Given the description of an element on the screen output the (x, y) to click on. 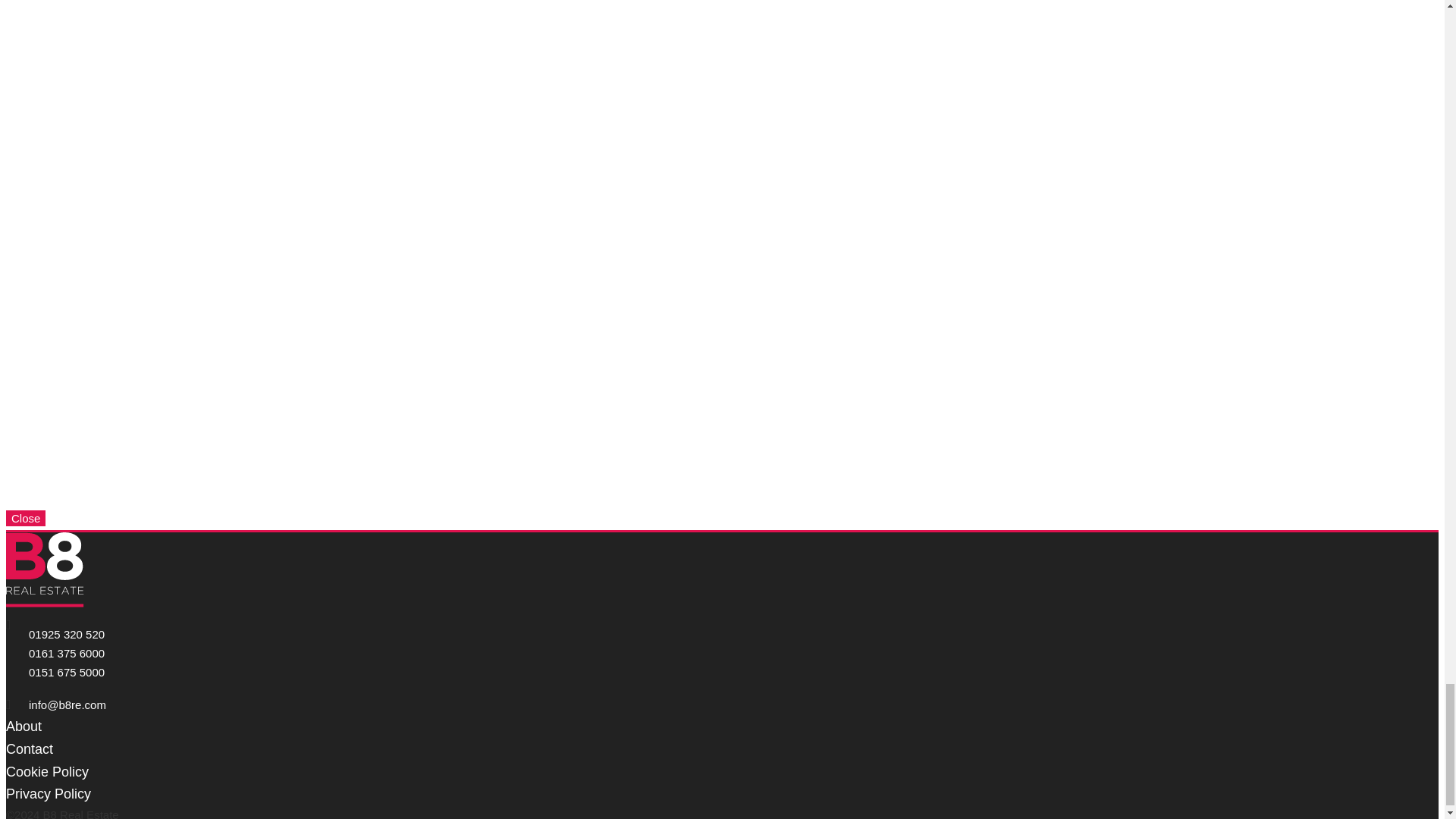
B8 Real Estate (44, 569)
